Given the description of an element on the screen output the (x, y) to click on. 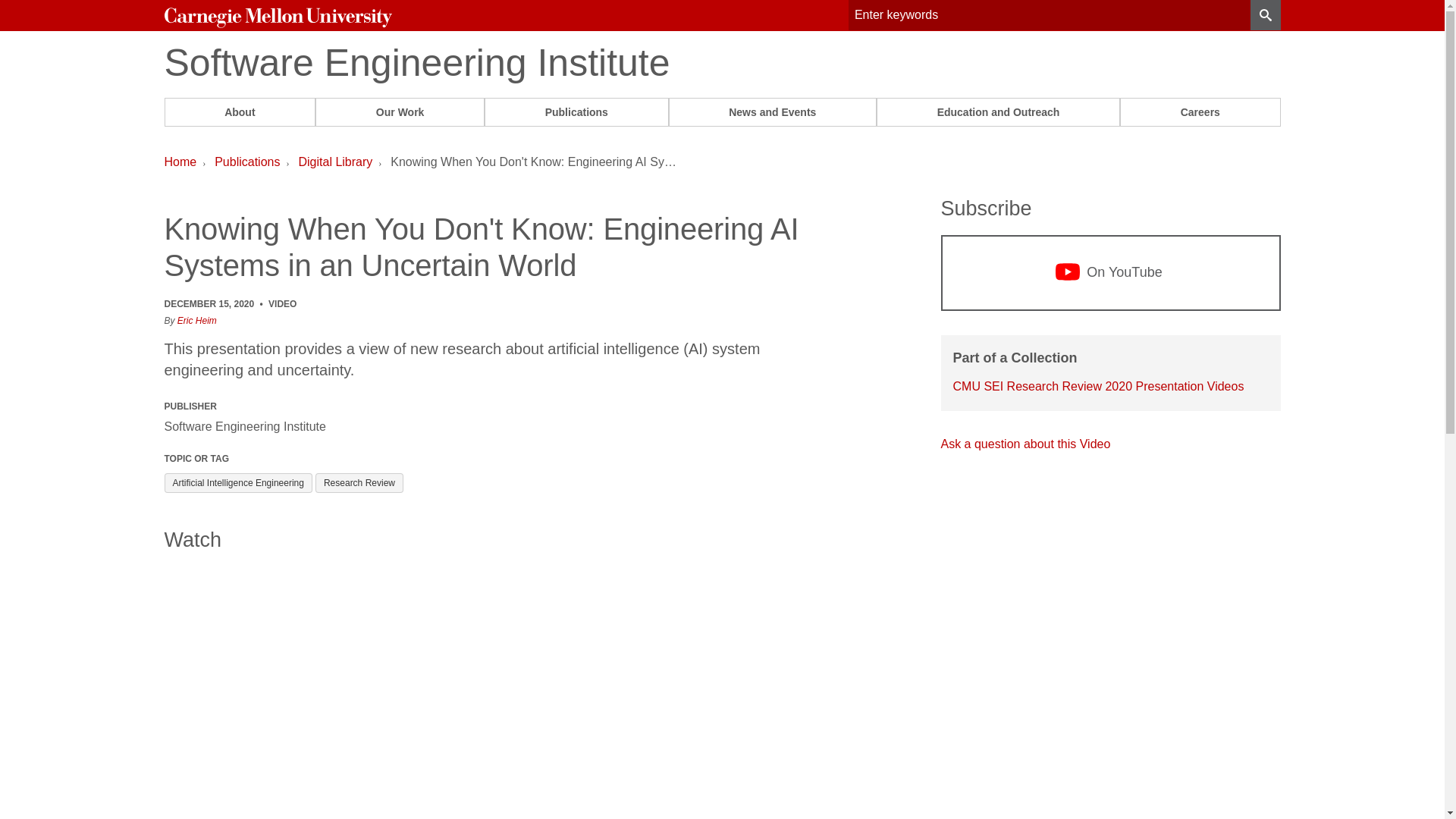
Carnegie Mellon University (277, 17)
